Given the description of an element on the screen output the (x, y) to click on. 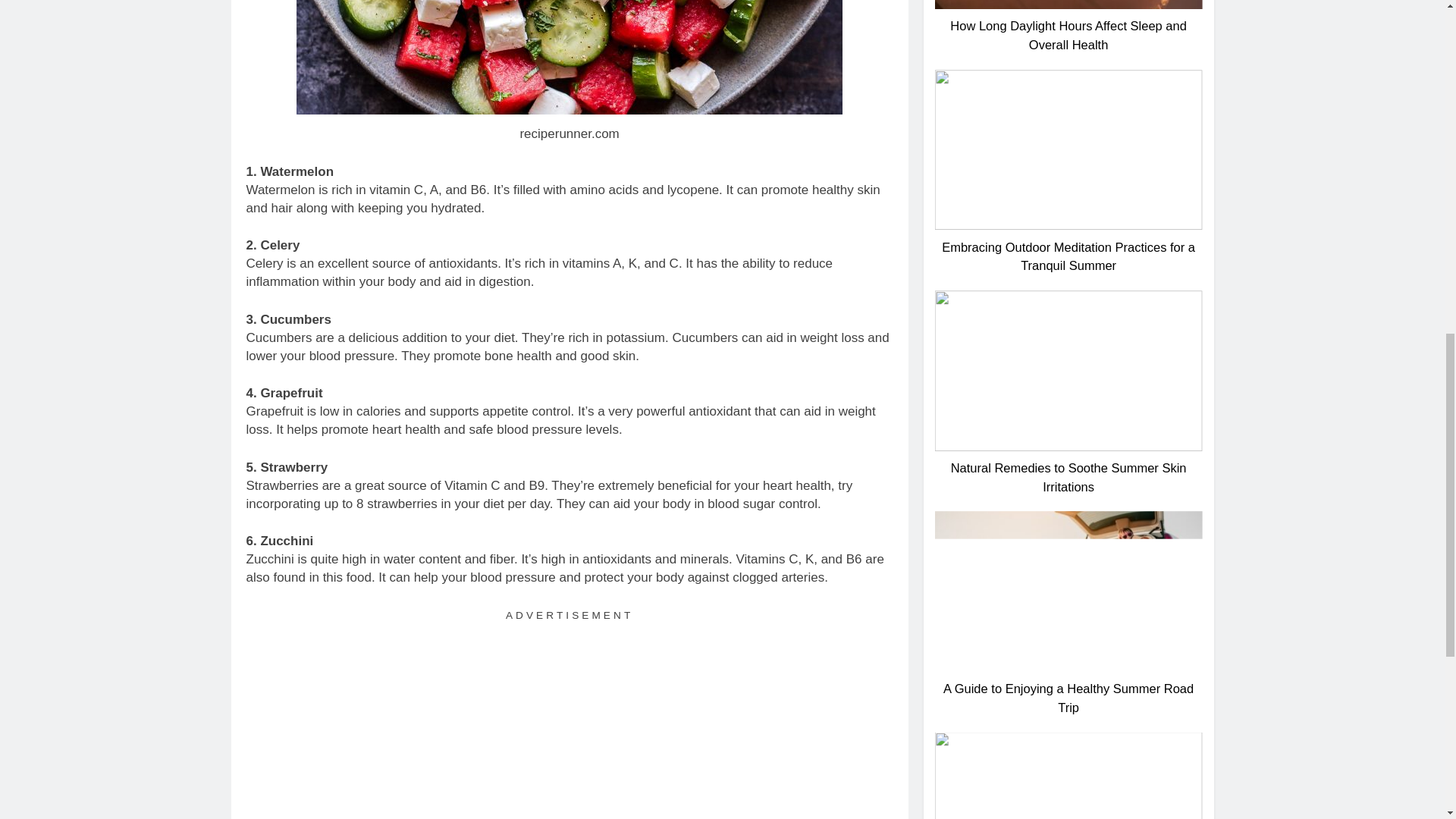
Advertisement (569, 721)
